Given the description of an element on the screen output the (x, y) to click on. 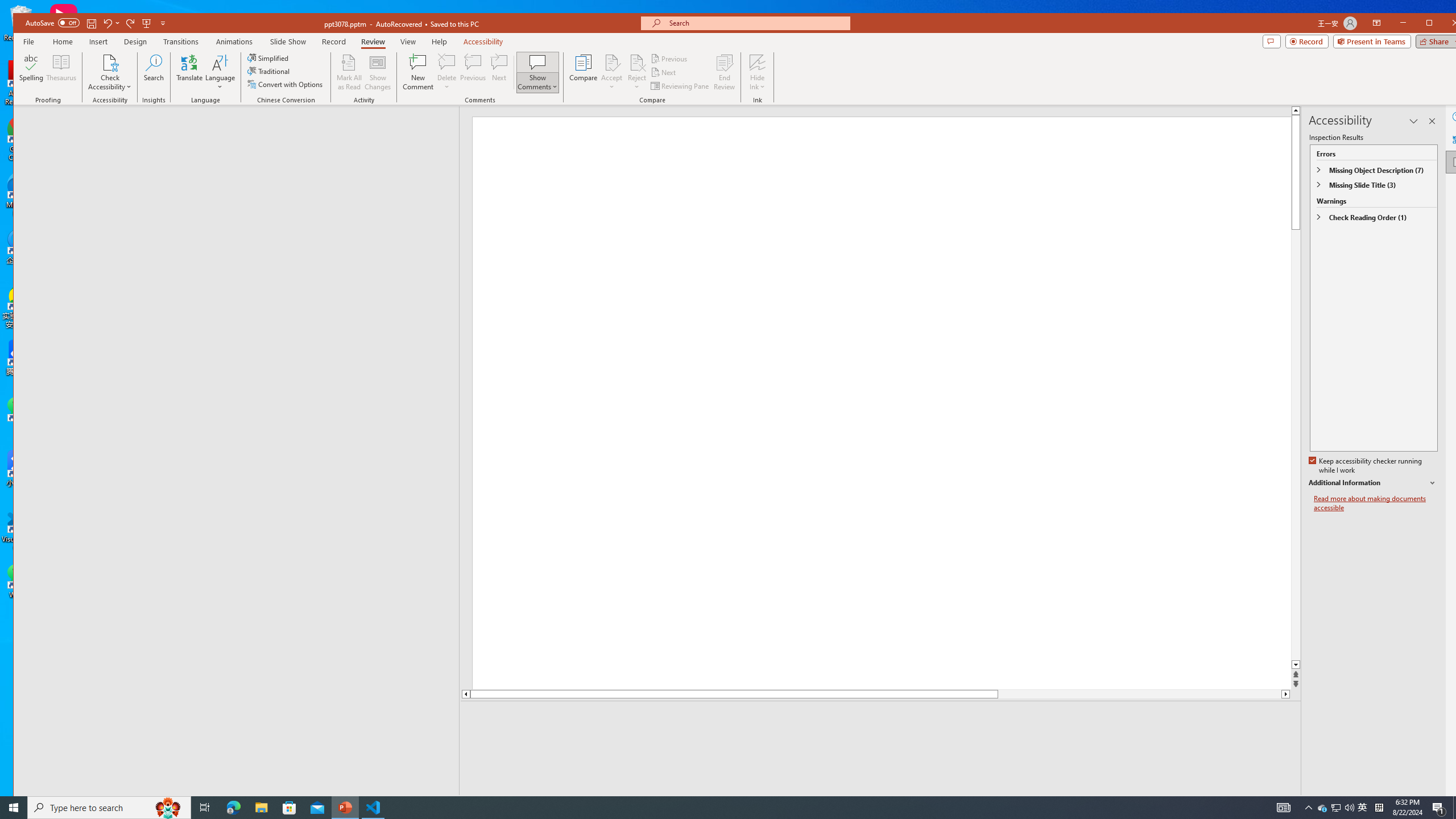
New Comment (418, 72)
Line down (1286, 693)
Slide Show Next On (1253, 802)
Translate (188, 72)
Simplified (269, 57)
Previous (670, 58)
Show Comments (537, 61)
Read more about making documents accessible (1375, 502)
Slide Show Previous On (1217, 802)
